Given the description of an element on the screen output the (x, y) to click on. 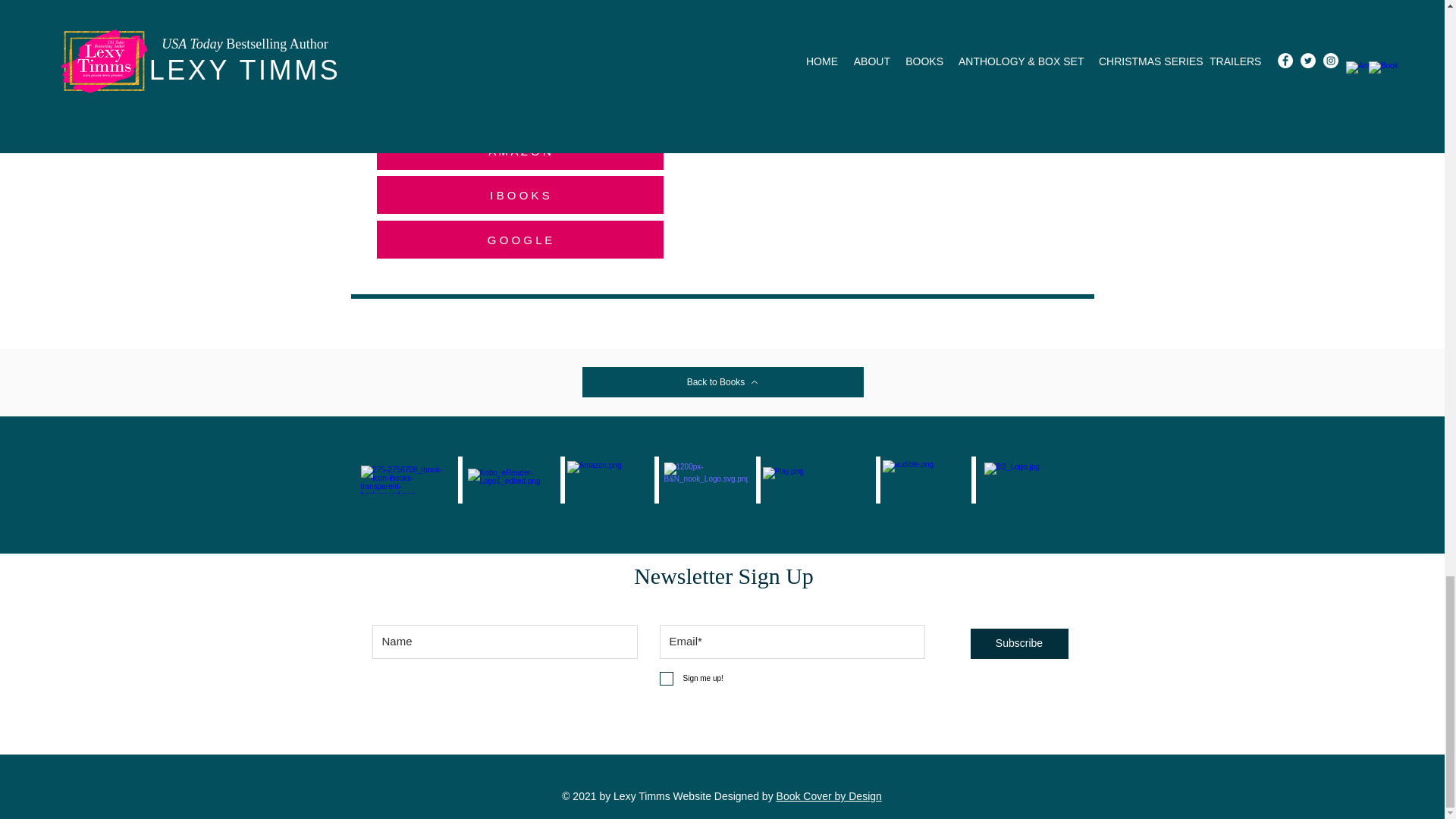
BK3 Lyrics E-Book Cover.png (518, 62)
A M A Z O N (518, 150)
G O O G L E (518, 239)
Back to Books (722, 381)
I B O O K S (518, 194)
Subscribe (1019, 643)
Book Cover by Design (829, 796)
